Given the description of an element on the screen output the (x, y) to click on. 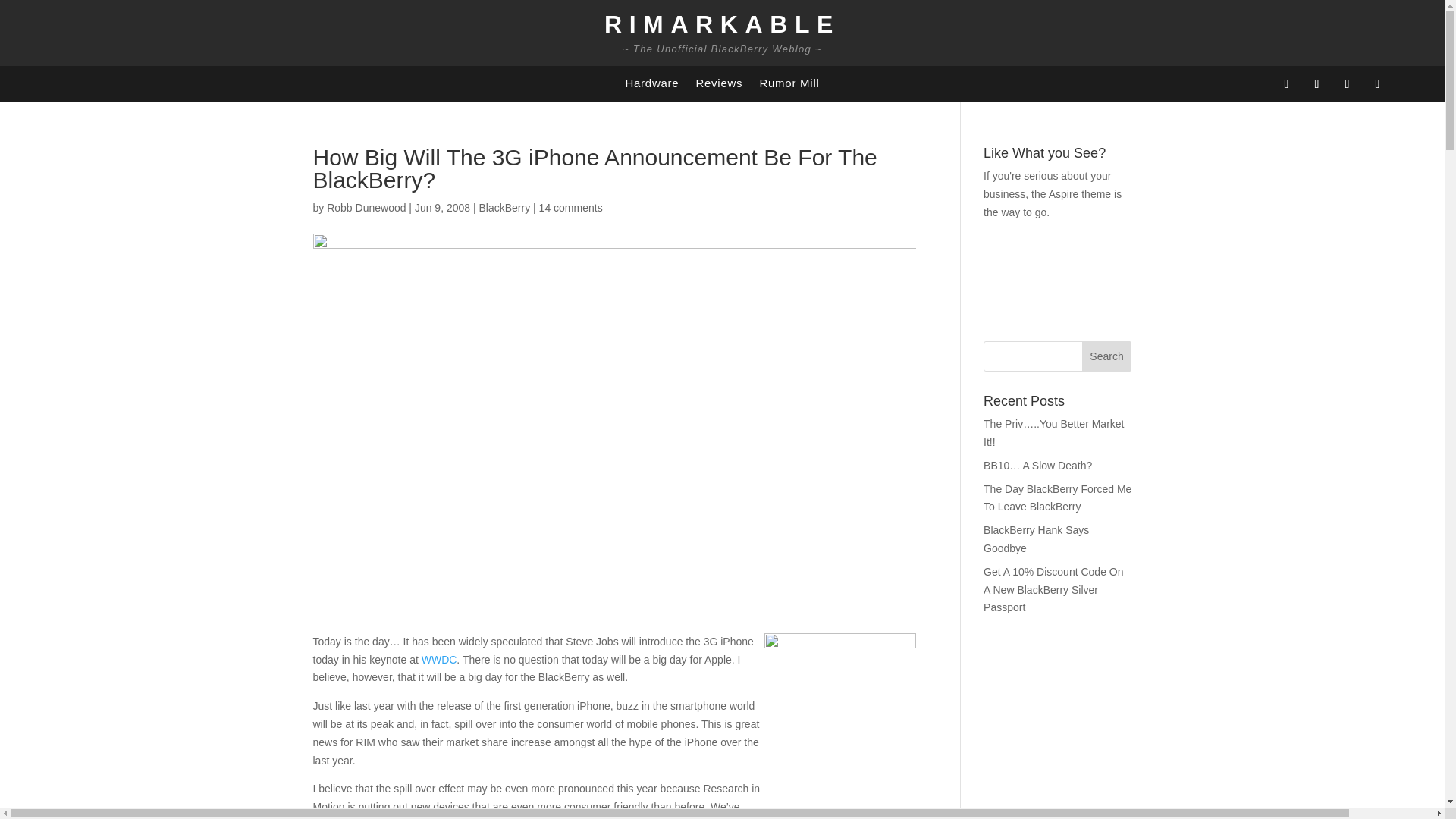
BlackBerry (505, 207)
Reviews (718, 86)
Hardware (651, 86)
Rumor Mill (788, 86)
Follow on Youtube (1377, 84)
Follow on Facebook (1286, 84)
Search (1106, 356)
Posts by Robb Dunewood (366, 207)
14 comments (570, 207)
Robb Dunewood (366, 207)
